Given the description of an element on the screen output the (x, y) to click on. 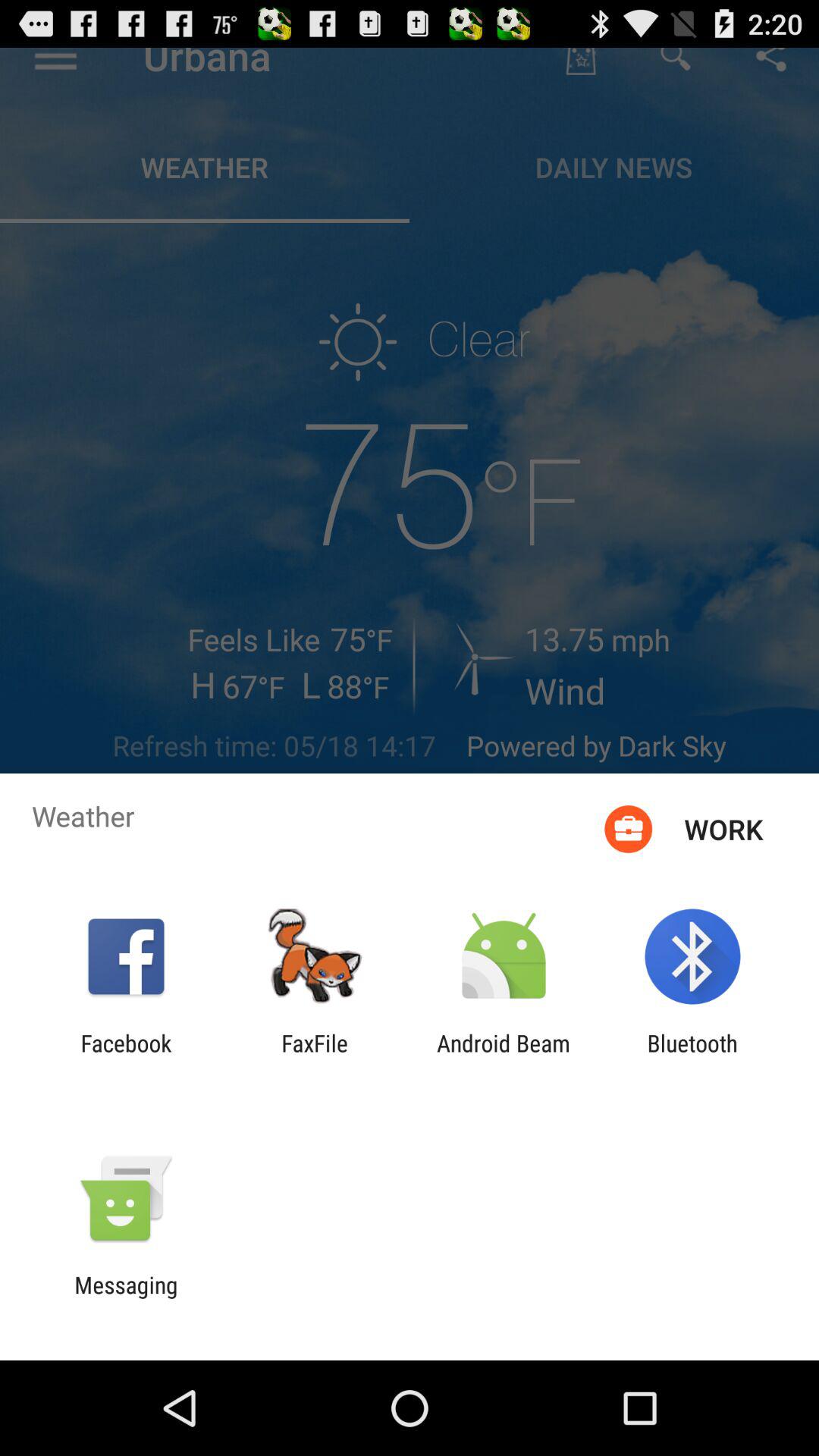
open item next to the faxfile (125, 1056)
